Given the description of an element on the screen output the (x, y) to click on. 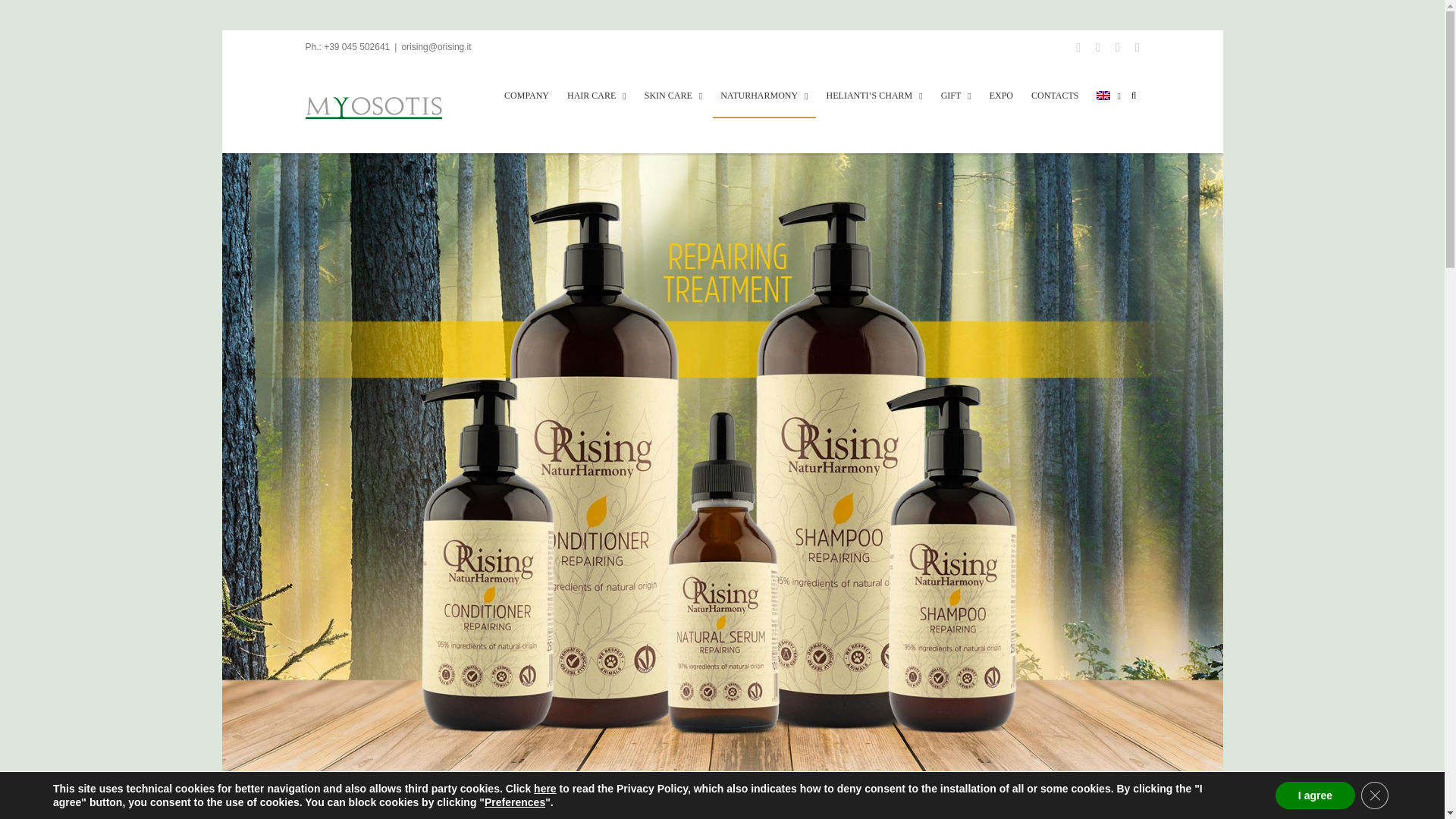
LinkedIn (1137, 46)
HAIR CARE (596, 95)
Instagram (1098, 46)
COMPANY (526, 95)
Search (1134, 95)
Facebook (1077, 46)
YouTube (1117, 46)
